Given the description of an element on the screen output the (x, y) to click on. 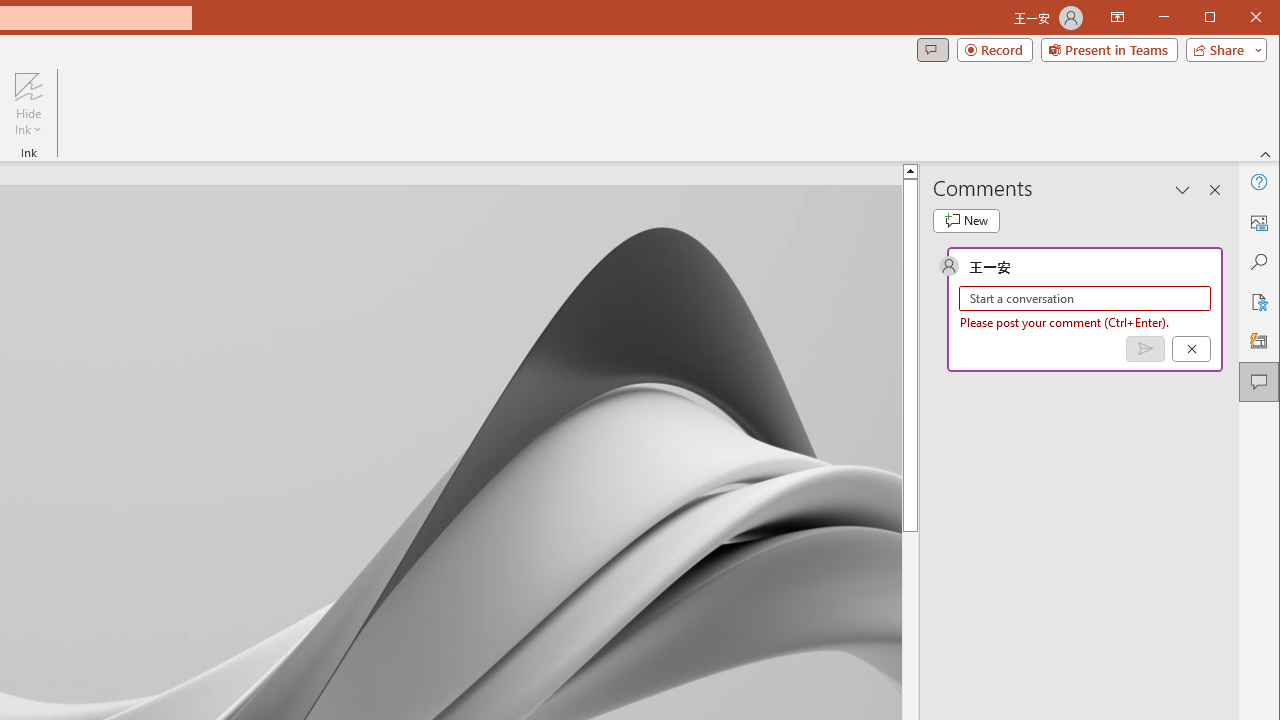
New comment (966, 220)
